Given the description of an element on the screen output the (x, y) to click on. 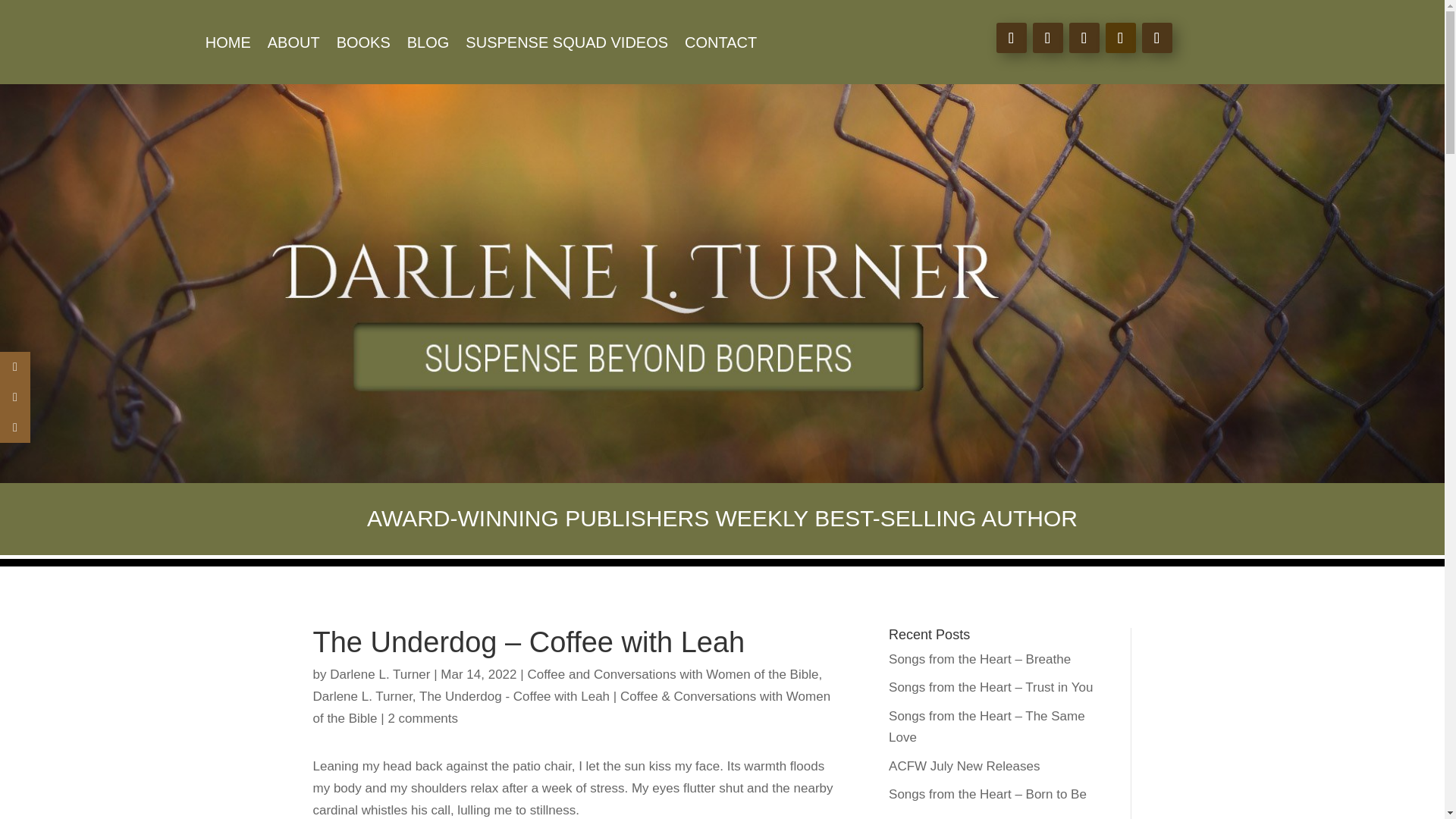
ABOUT (293, 45)
ACFW July New Releases (963, 766)
Follow on BookBub (1156, 37)
CONTACT (720, 45)
Posts by Darlene L. Turner (379, 674)
HOME (227, 45)
2 comments (422, 718)
The Underdog - Coffee with Leah (514, 696)
Follow on Twitter (1047, 37)
BOOKS (363, 45)
Darlene L. Turner (362, 696)
Follow on Goodreads (1120, 37)
Follow on Instagram (1083, 37)
BLOG (428, 45)
Follow on Facebook (1010, 37)
